Given the description of an element on the screen output the (x, y) to click on. 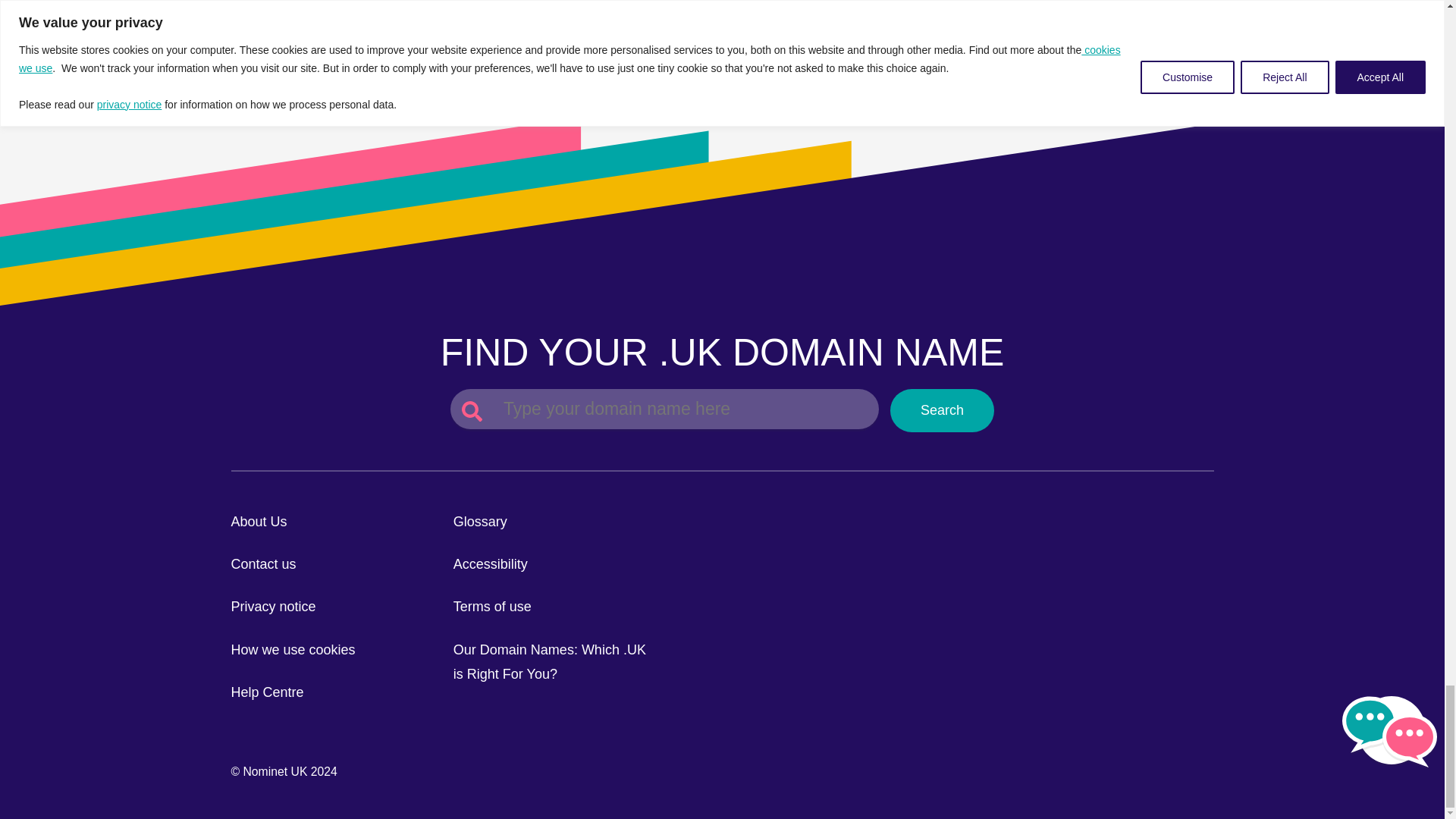
About Us (258, 521)
Contact us (262, 563)
Search (941, 410)
Privacy notice (272, 606)
Accessibility (489, 563)
Help Centre (266, 692)
Glossary (479, 521)
How we use cookies (292, 649)
Our Domain Names: Which .UK is Right For You? (549, 661)
Terms of use (491, 606)
